Given the description of an element on the screen output the (x, y) to click on. 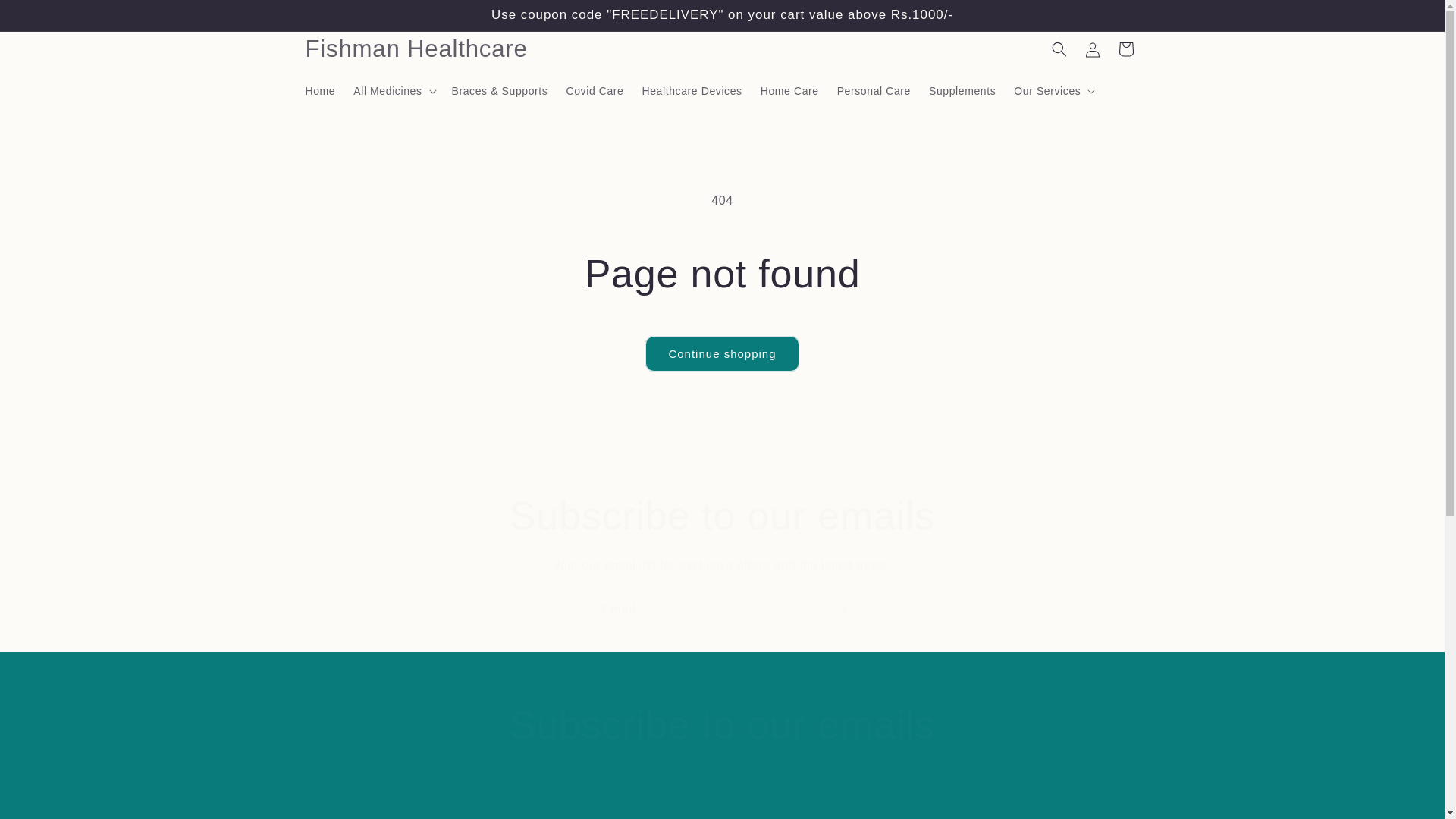
Fishman Healthcare (415, 48)
Home Care (789, 90)
Covid Care (593, 90)
Skip to content (45, 17)
Subscribe to our emails (721, 515)
Email (722, 610)
Personal Care (874, 90)
Email (722, 810)
Healthcare Devices (691, 90)
